Given the description of an element on the screen output the (x, y) to click on. 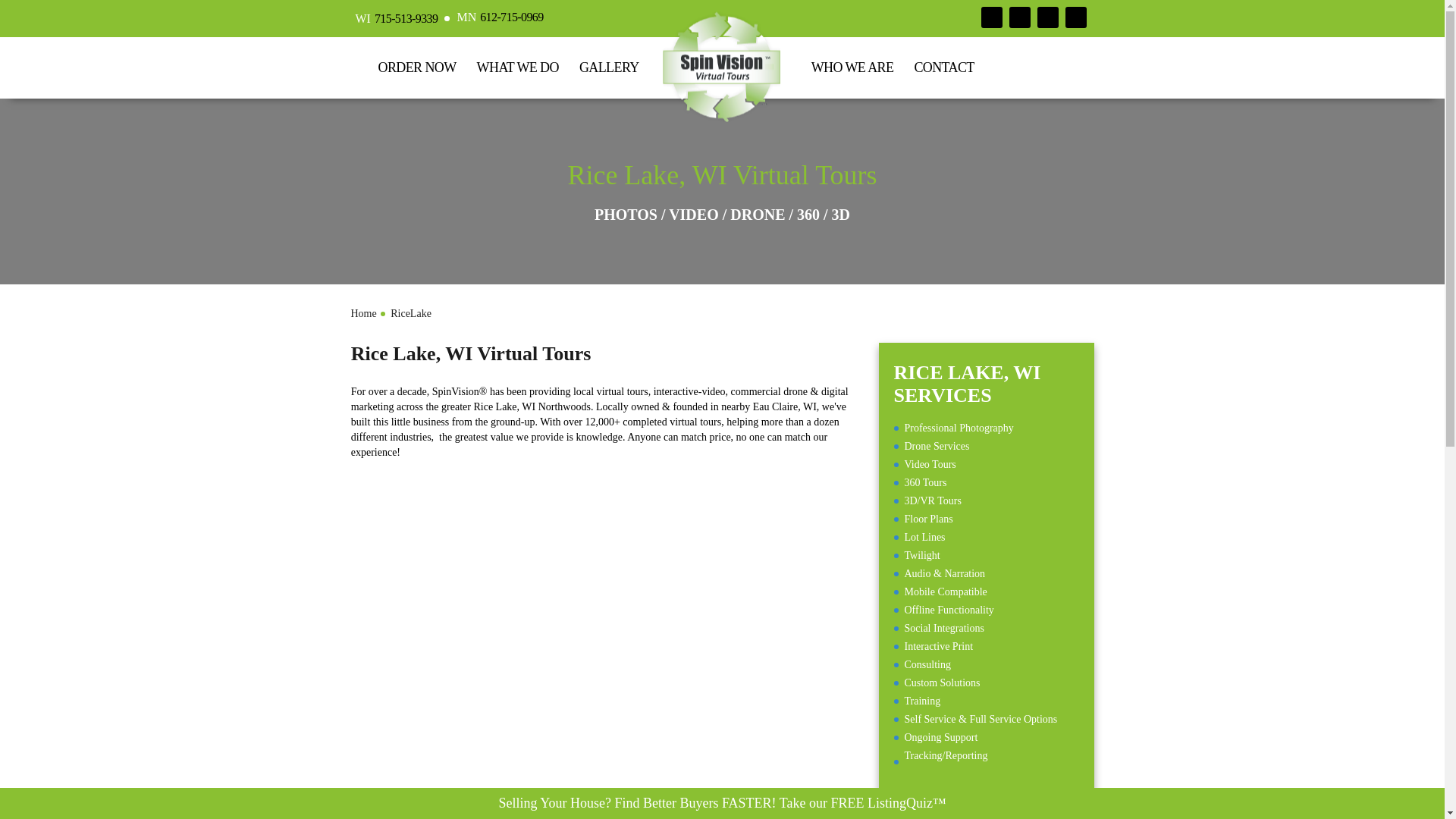
Facebook (992, 16)
ORDER NOW (416, 67)
Call Us (509, 16)
Order Now (416, 67)
CONTACT (943, 67)
Linkedin (1047, 16)
Home (362, 313)
Call Us (404, 18)
715-513-9339 (404, 18)
Gallery (609, 67)
What We Do (517, 67)
Google Plus (1019, 16)
Spin Vision (720, 67)
WHAT WE DO (517, 67)
612-715-0969 (509, 16)
